Given the description of an element on the screen output the (x, y) to click on. 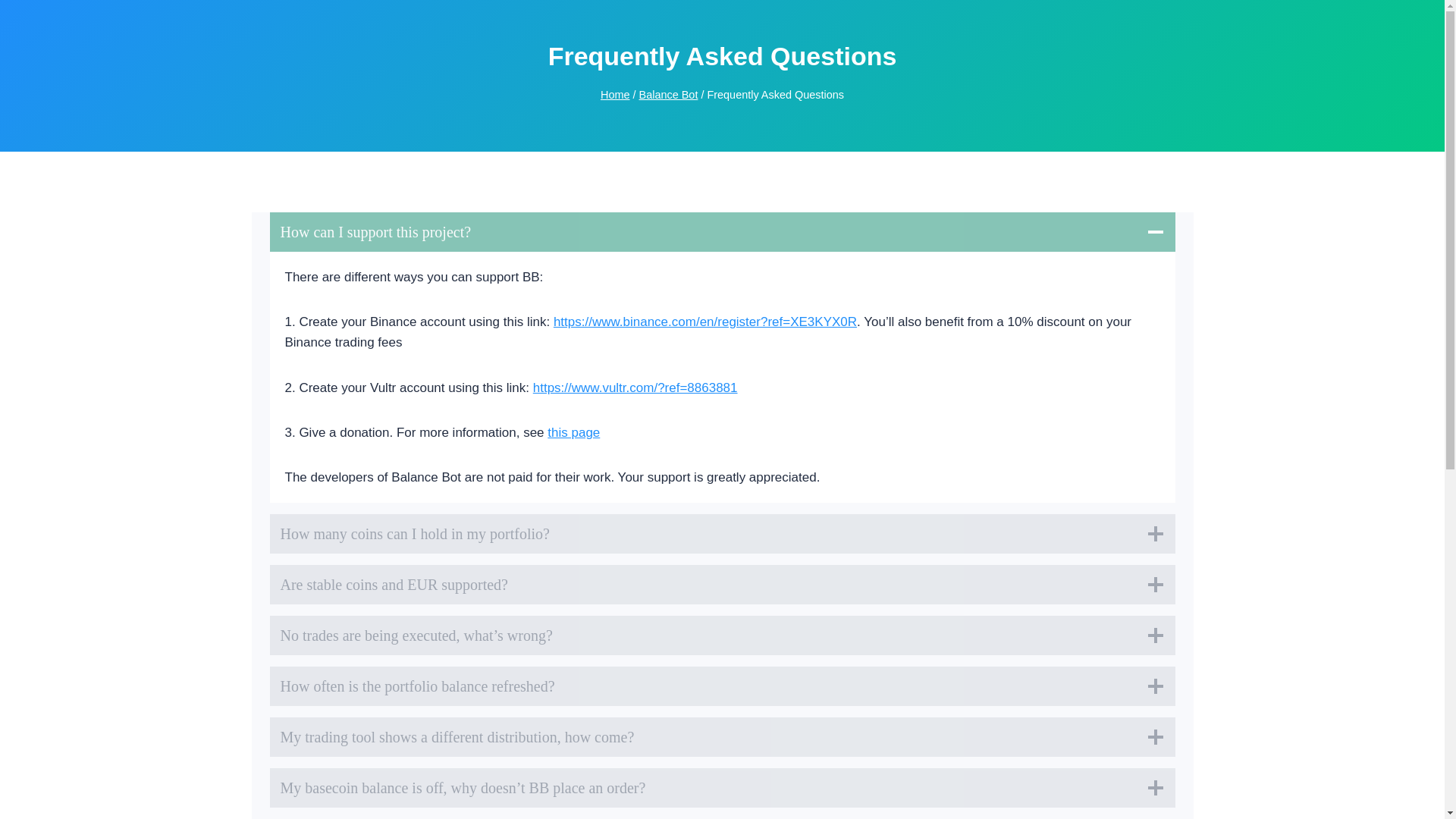
How often is the portfolio balance refreshed? (721, 685)
How many coins can I hold in my portfolio? (721, 533)
Home (614, 94)
Are stable coins and EUR supported? (721, 584)
this page (573, 432)
My trading tool shows a different distribution, how come? (721, 736)
Balance Bot (668, 94)
How can I support this project? (721, 231)
